Given the description of an element on the screen output the (x, y) to click on. 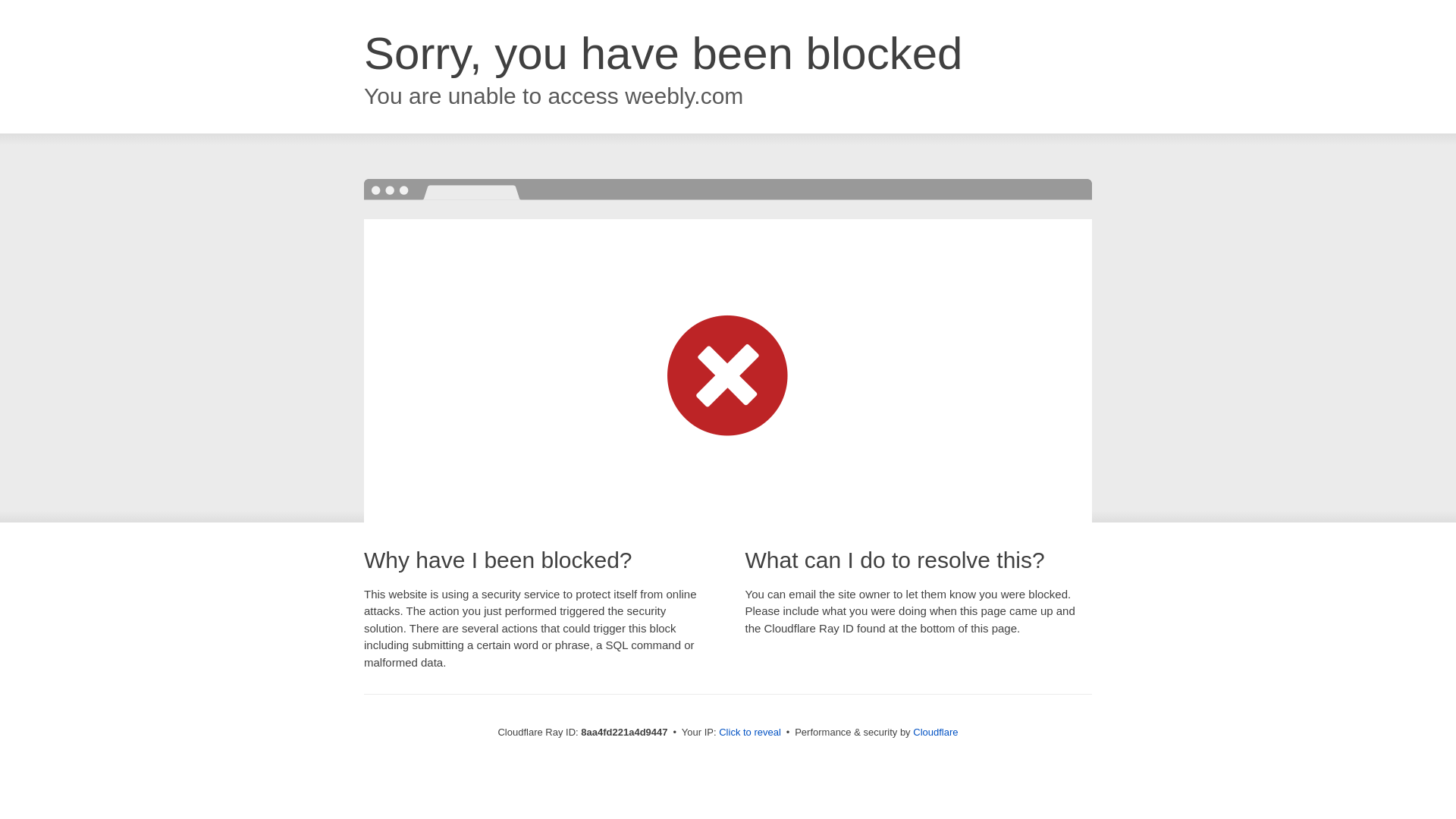
Cloudflare (935, 731)
Click to reveal (749, 732)
